Given the description of an element on the screen output the (x, y) to click on. 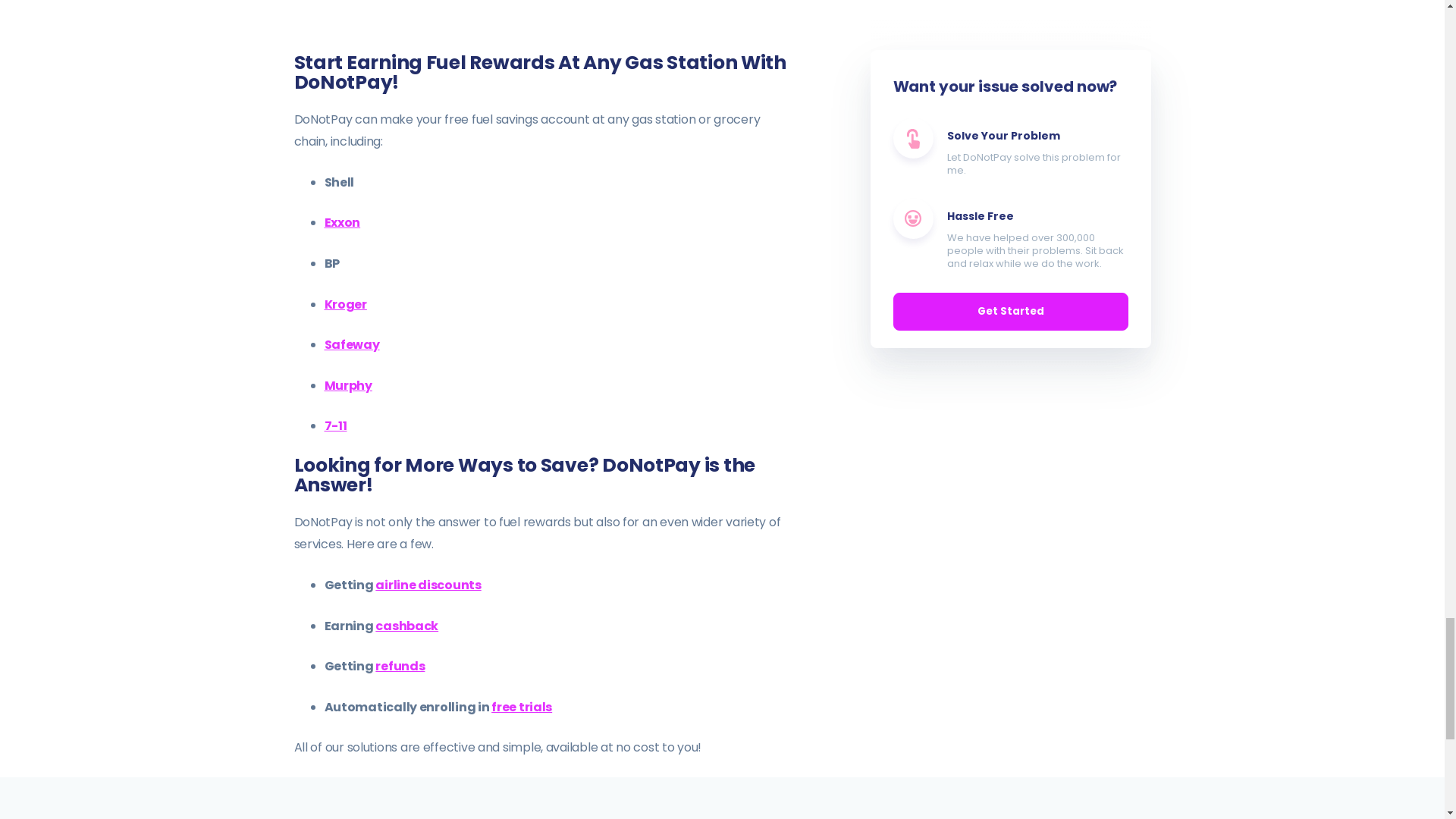
Kroger (345, 303)
Exxon (342, 221)
